Given the description of an element on the screen output the (x, y) to click on. 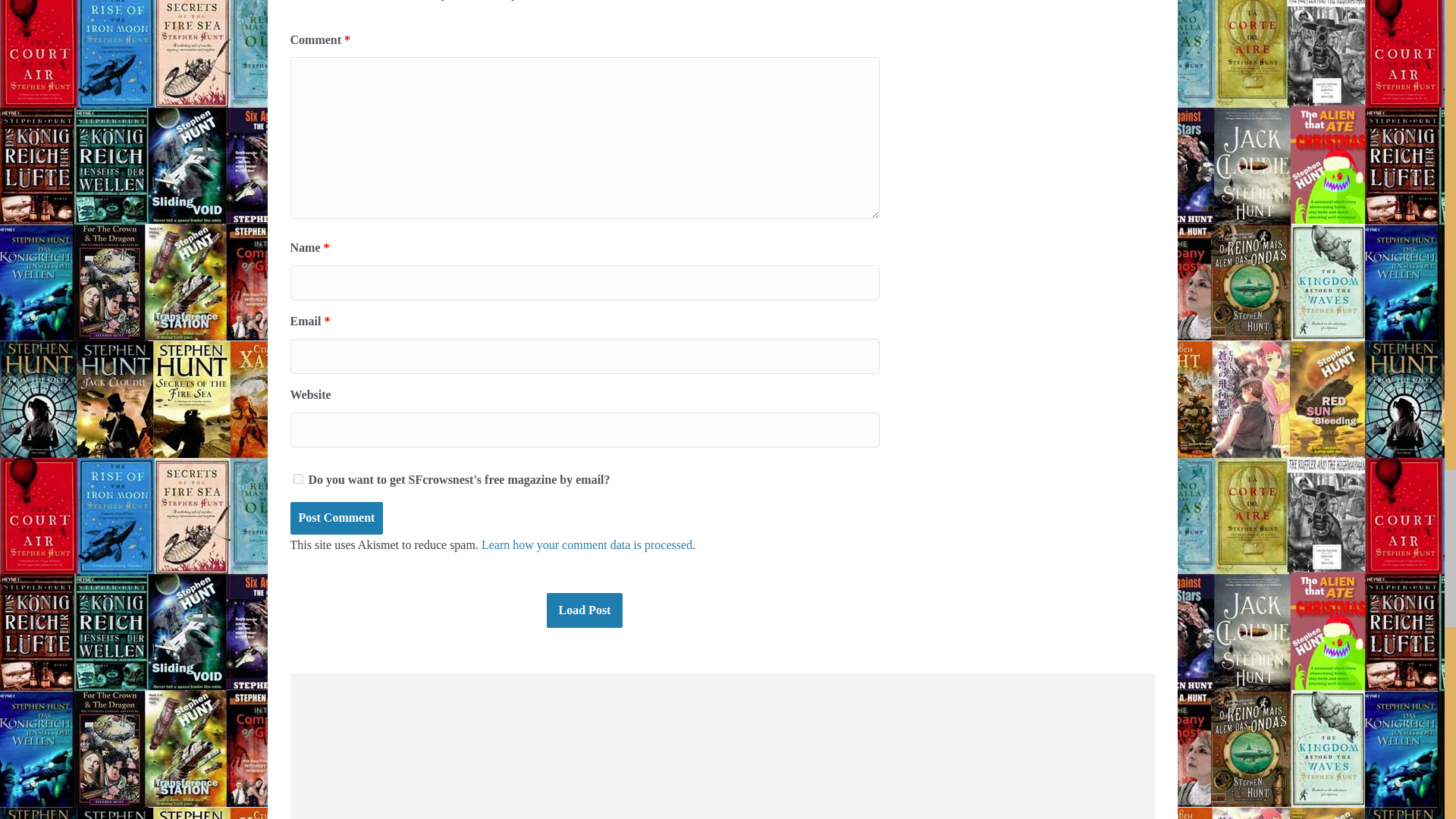
Post Comment (335, 518)
1 (297, 479)
